Given the description of an element on the screen output the (x, y) to click on. 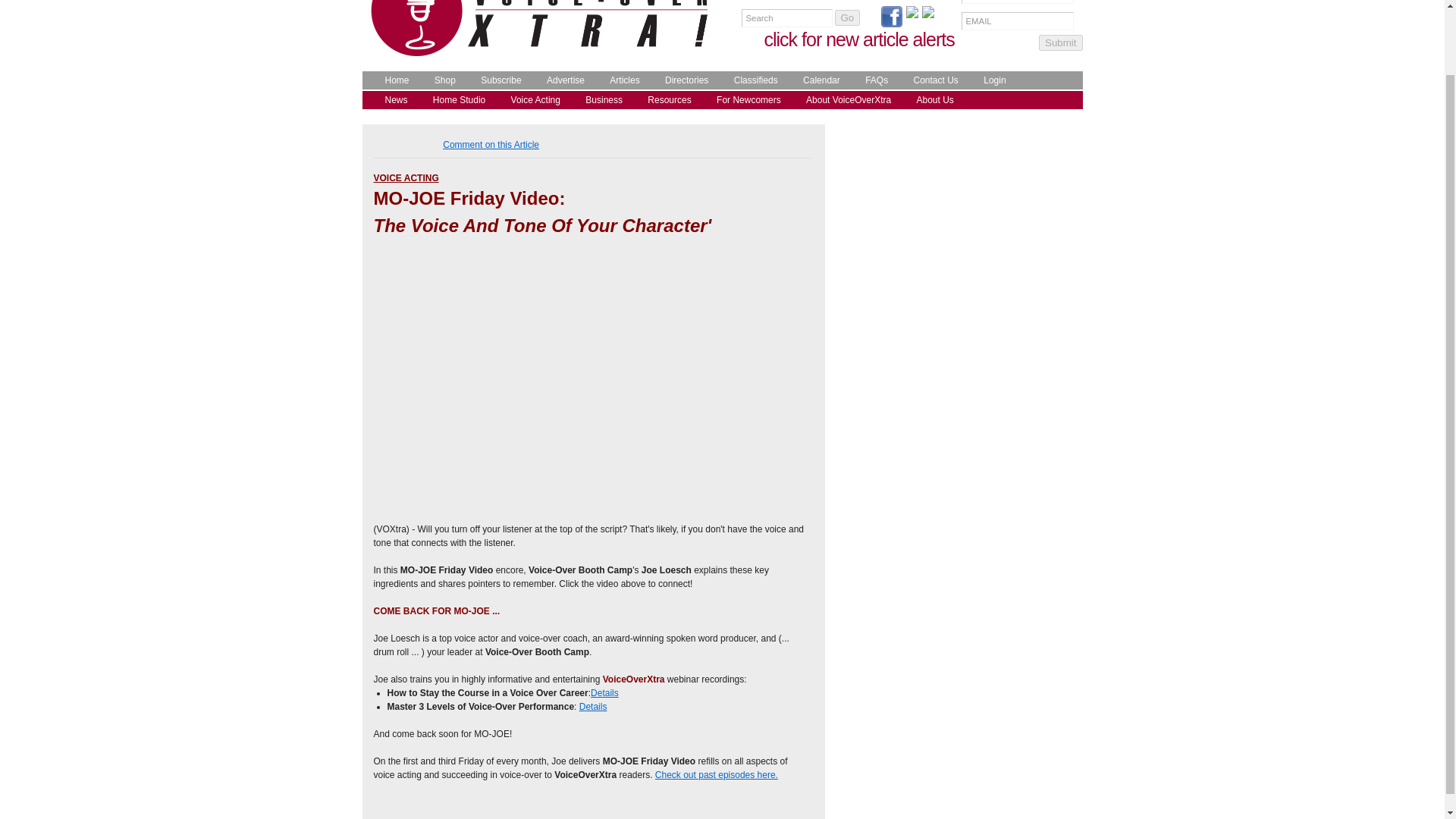
Advertise (561, 79)
Submit (1060, 42)
Subscribe (497, 79)
Submit (1060, 42)
Go (847, 17)
Details (593, 706)
Classifieds (751, 79)
Home (393, 79)
click for new article alerts (859, 38)
EMAIL (1017, 21)
